Given the description of an element on the screen output the (x, y) to click on. 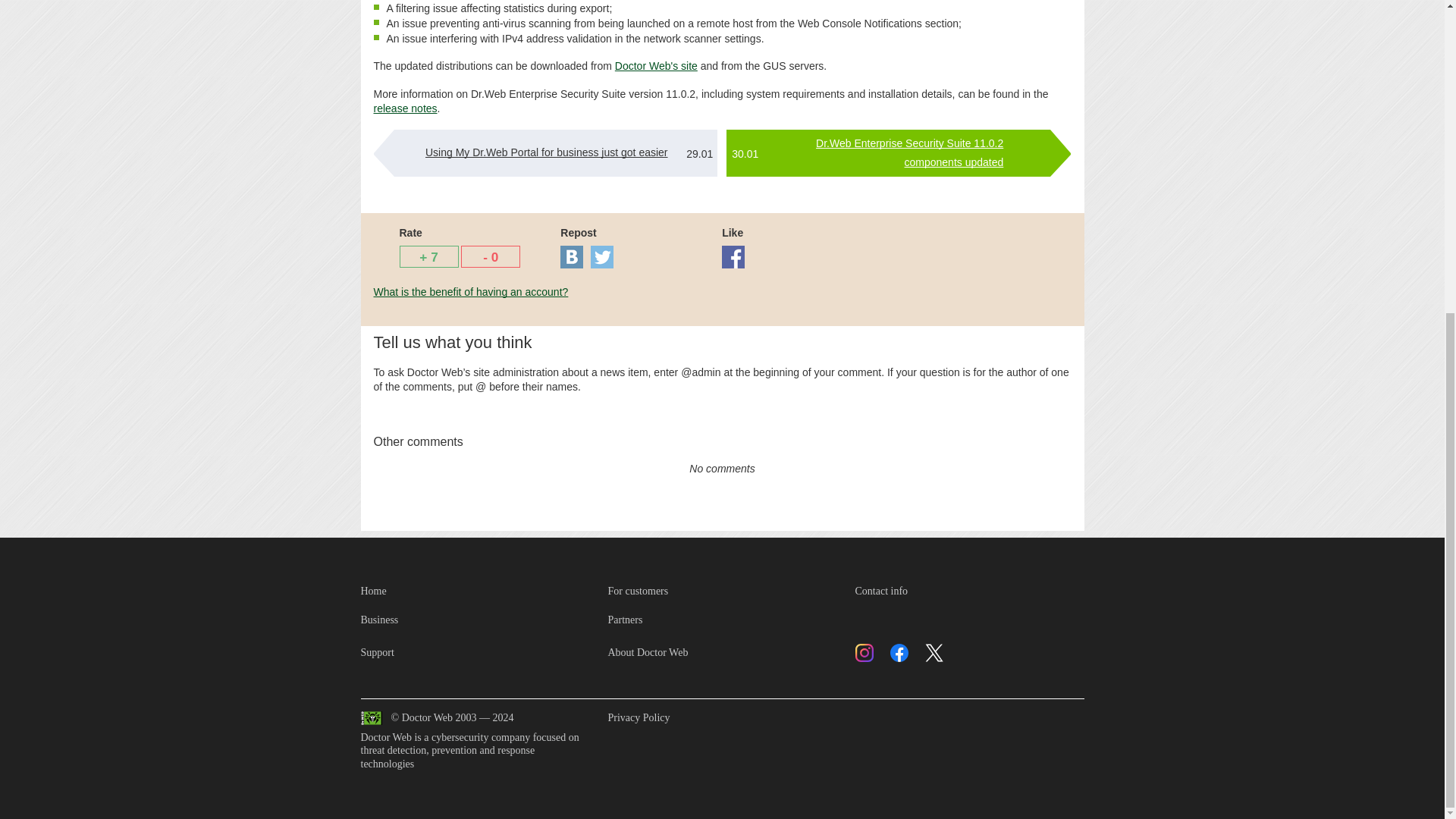
Dr.Web Enterprise Security Suite 11.0.2 components updated (909, 152)
Using My Dr.Web Portal for business just got easier (546, 152)
